Given the description of an element on the screen output the (x, y) to click on. 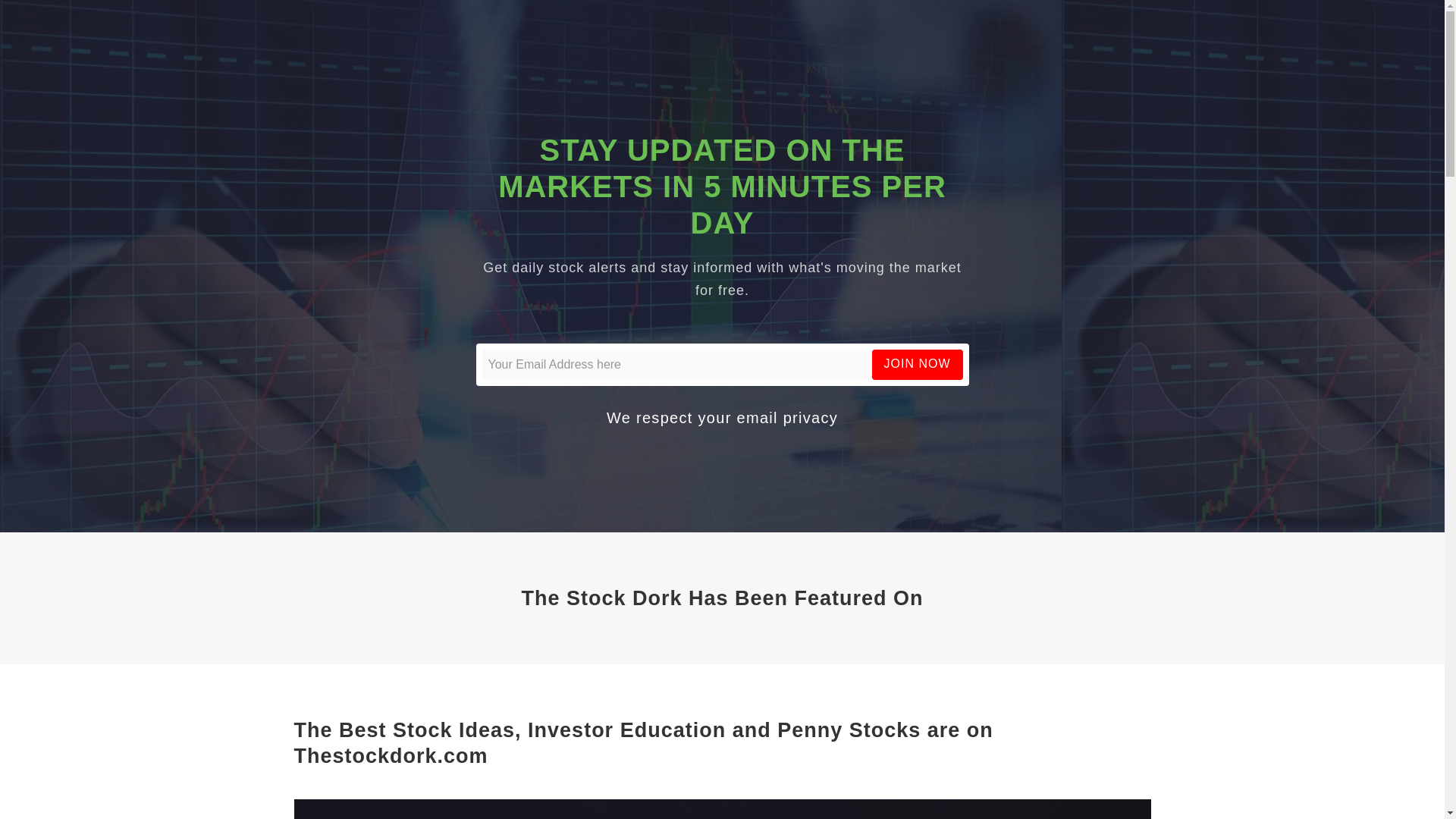
Join Now (917, 363)
Join Now (917, 363)
Privacy Policy (787, 417)
email privacy (787, 417)
